Given the description of an element on the screen output the (x, y) to click on. 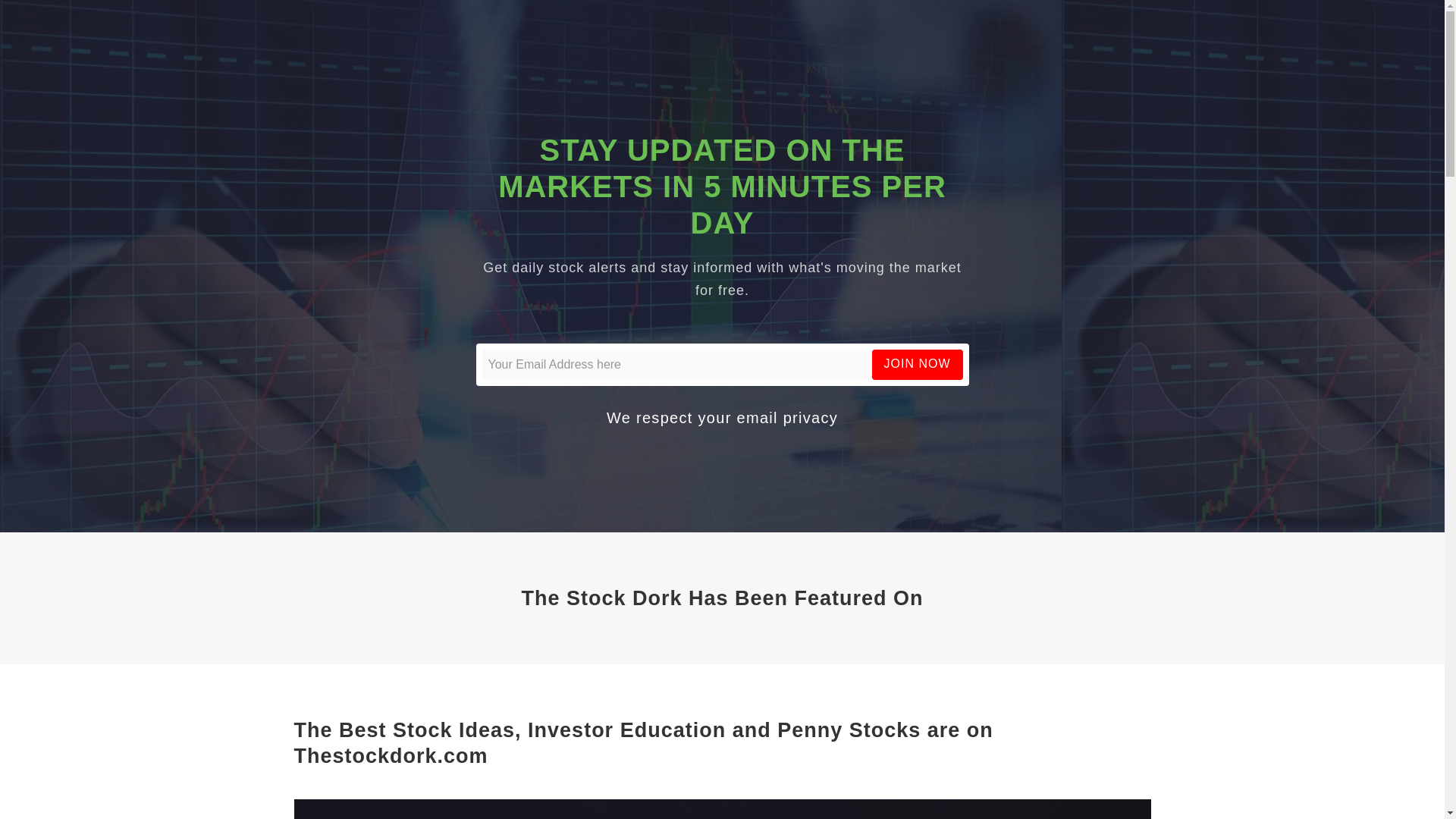
Join Now (917, 363)
Join Now (917, 363)
Privacy Policy (787, 417)
email privacy (787, 417)
